Given the description of an element on the screen output the (x, y) to click on. 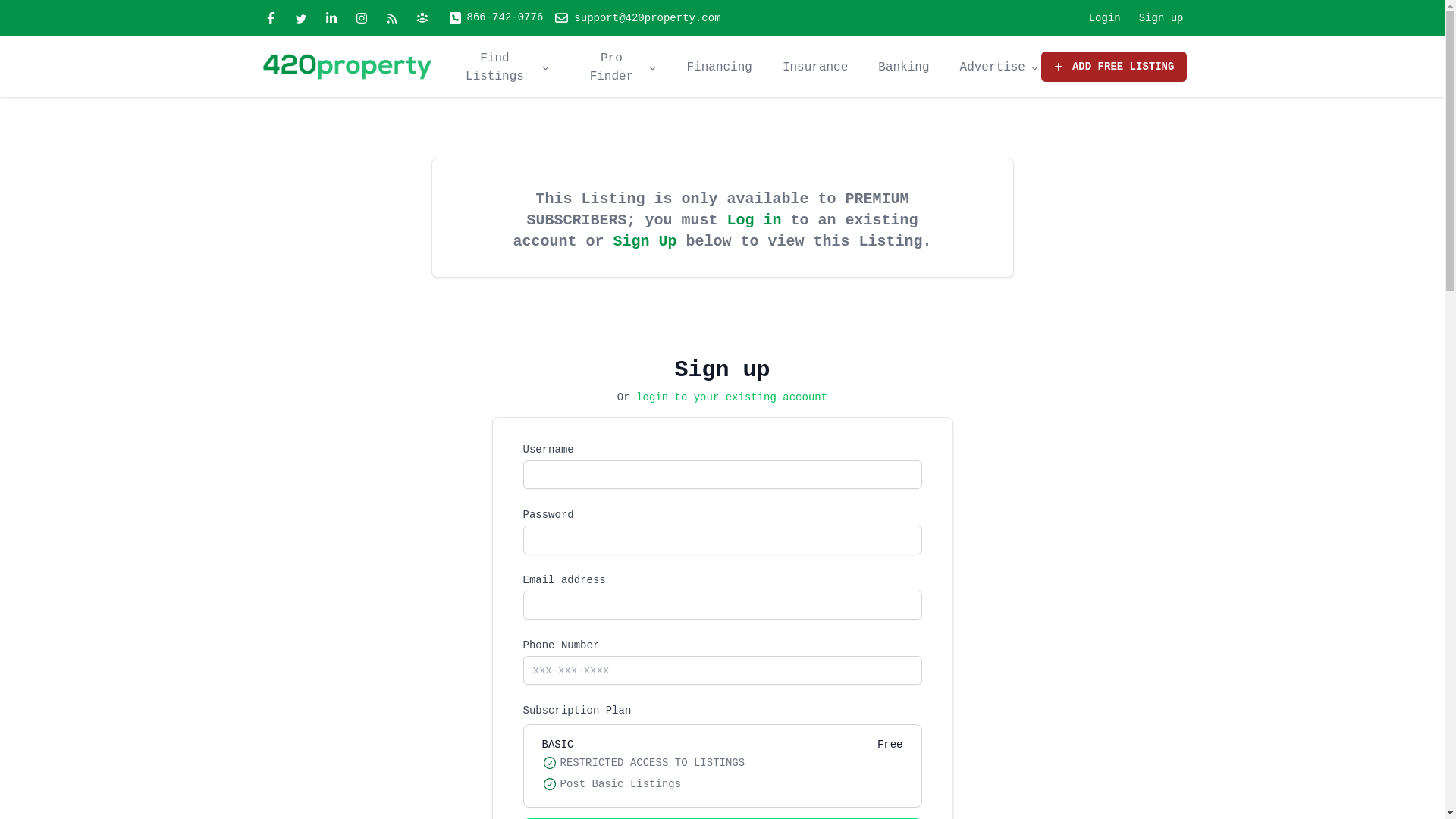
Login Element type: text (1104, 17)
Banking Element type: text (903, 66)
866-742-0776 Element type: text (495, 17)
Insurance Element type: text (814, 66)
Sign up Element type: text (1161, 17)
Financing Element type: text (718, 66)
Log in Element type: text (753, 220)
login to your existing account Element type: text (731, 397)
Advertise Element type: text (992, 67)
Find Listings Element type: text (494, 67)
ADD FREE LISTING Element type: text (1113, 66)
support@420property.com Element type: text (637, 17)
Pro Finder Element type: text (611, 67)
Sign Up Element type: text (644, 241)
